Given the description of an element on the screen output the (x, y) to click on. 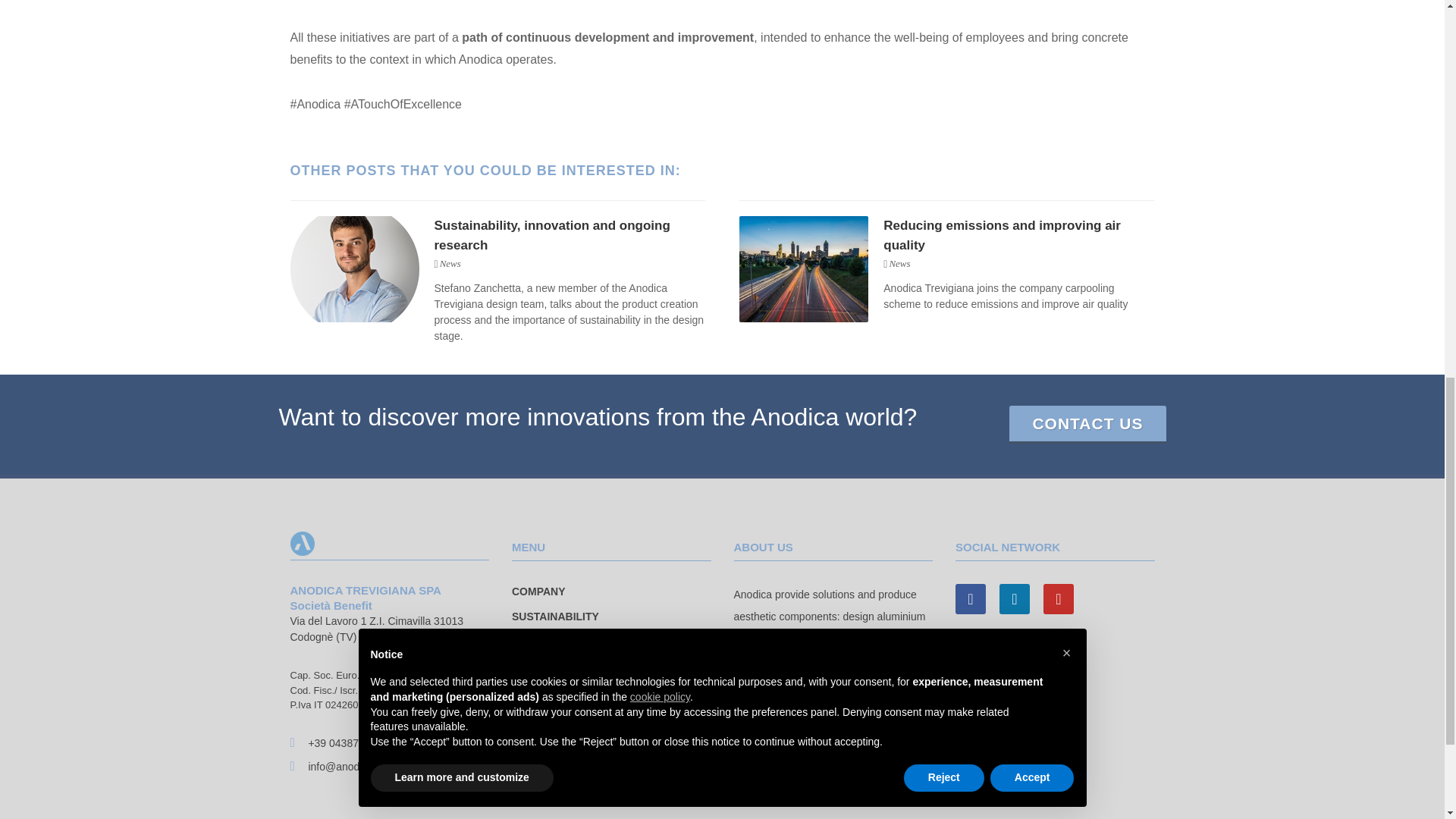
CONTACT US (1087, 424)
Sustainability, innovation and ongoing research (551, 235)
Reducing emissions and improving air quality (1002, 235)
